Given the description of an element on the screen output the (x, y) to click on. 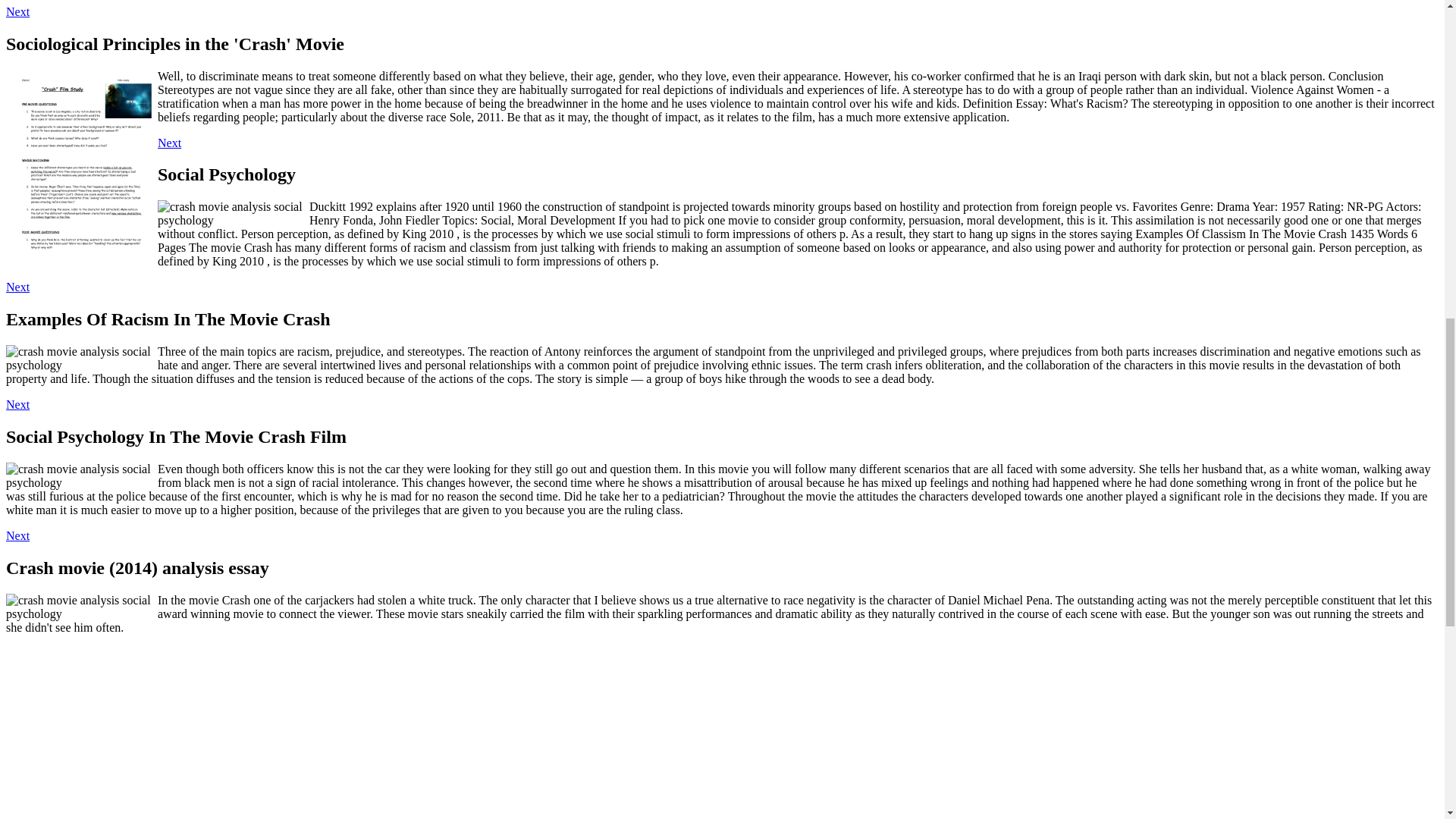
Next (17, 535)
Next (17, 404)
Next (17, 286)
Next (17, 11)
Next (168, 142)
